Given the description of an element on the screen output the (x, y) to click on. 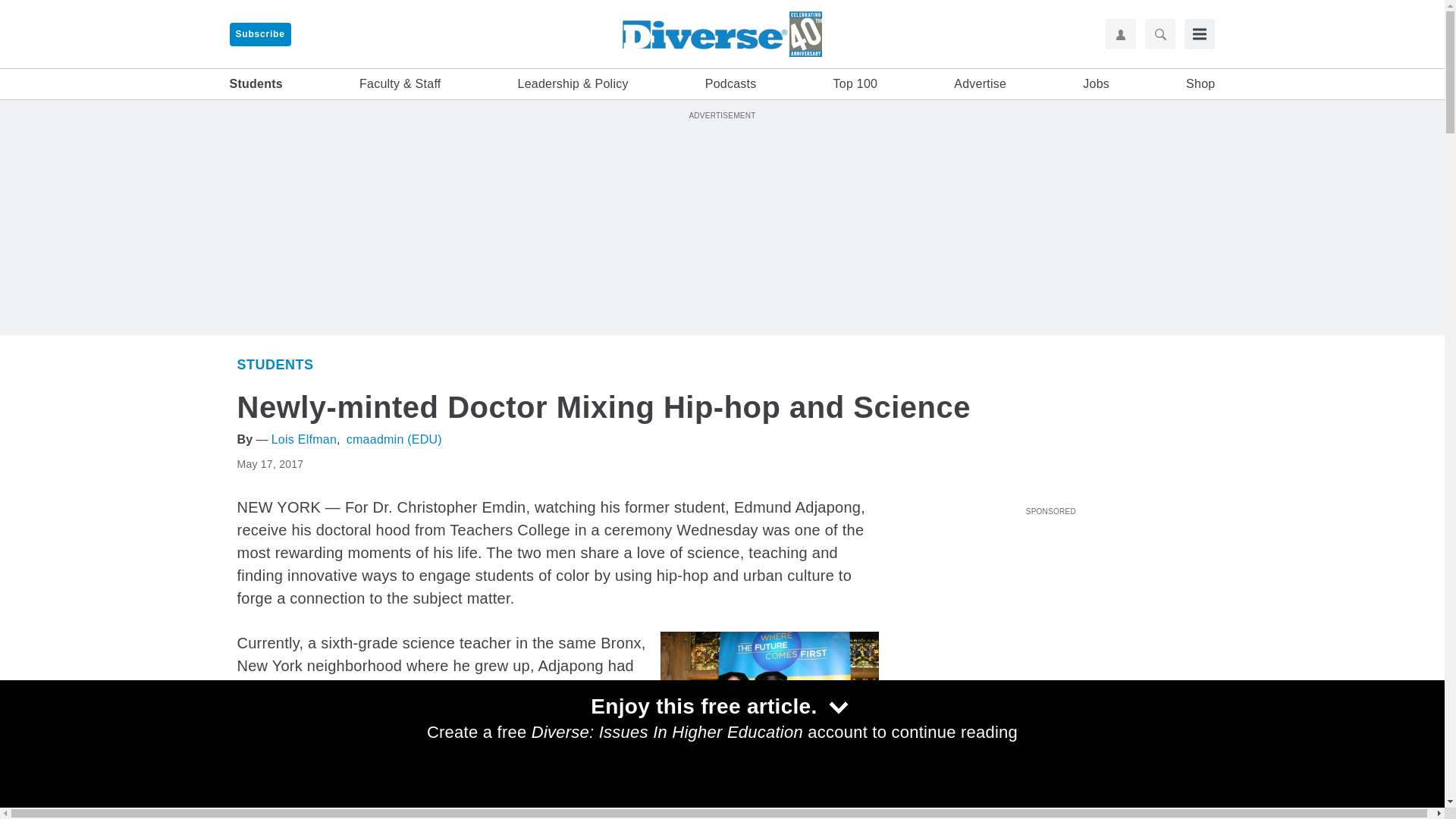
Youtube Player (1050, 606)
Jobs (1096, 84)
Subscribe (258, 33)
Subscribe (258, 33)
Students (274, 364)
Students (255, 84)
Top 100 (854, 84)
Podcasts (730, 84)
Shop (1200, 84)
Advertise (979, 84)
